Given the description of an element on the screen output the (x, y) to click on. 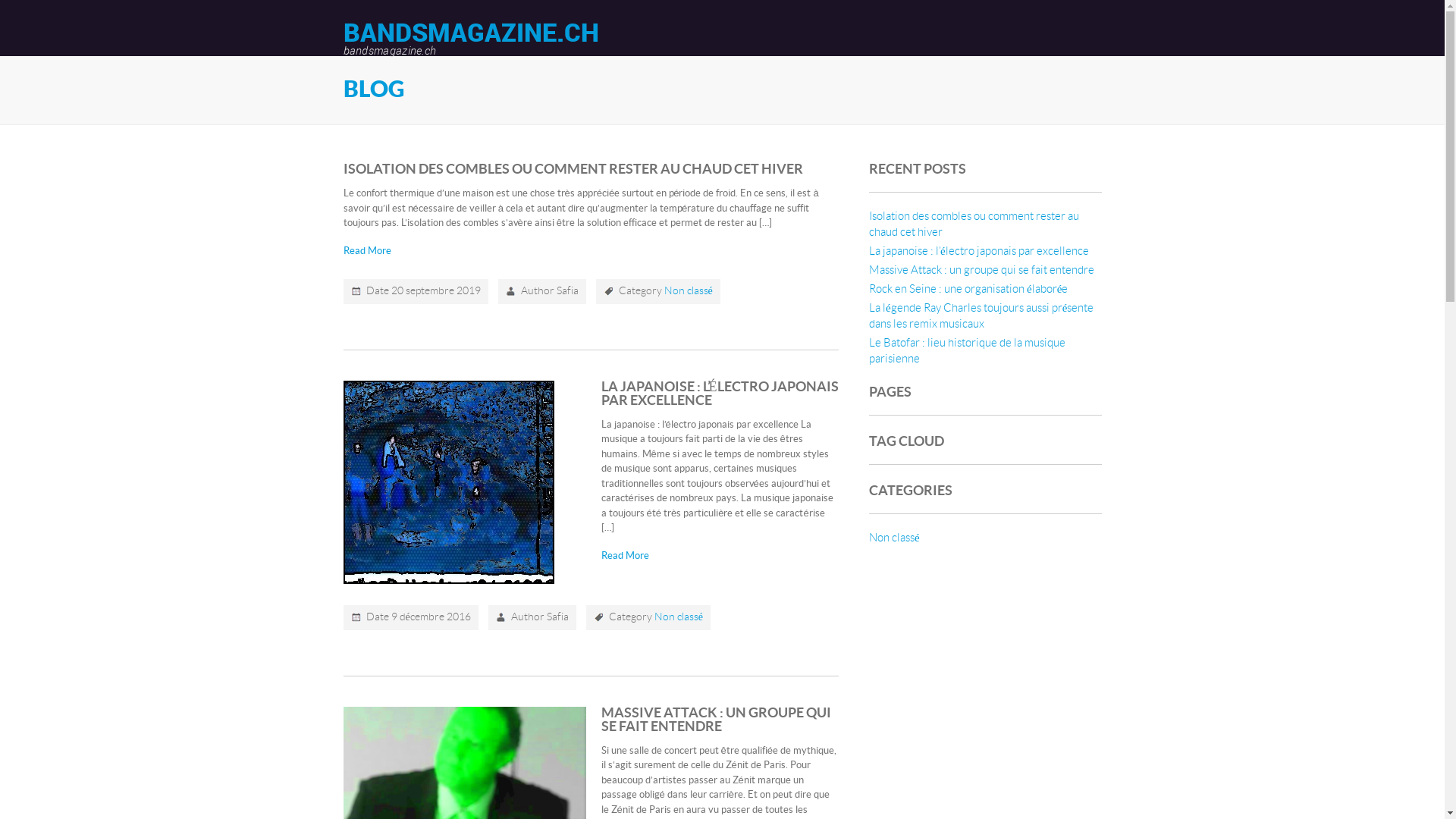
Read More Element type: text (366, 250)
Massive Attack : un groupe qui se fait entendre Element type: text (981, 270)
Le Batofar : lieu historique de la musique parisienne Element type: text (967, 350)
ISOLATION DES COMBLES OU COMMENT RESTER AU CHAUD CET HIVER Element type: text (572, 169)
Isolation des combles ou comment rester au chaud cet hiver Element type: text (974, 224)
MASSIVE ATTACK : UN GROUPE QUI SE FAIT ENTENDRE Element type: text (716, 719)
Read More Element type: text (625, 555)
BANDSMAGAZINE.CH
bandsmagazine.ch Element type: text (470, 37)
